Given the description of an element on the screen output the (x, y) to click on. 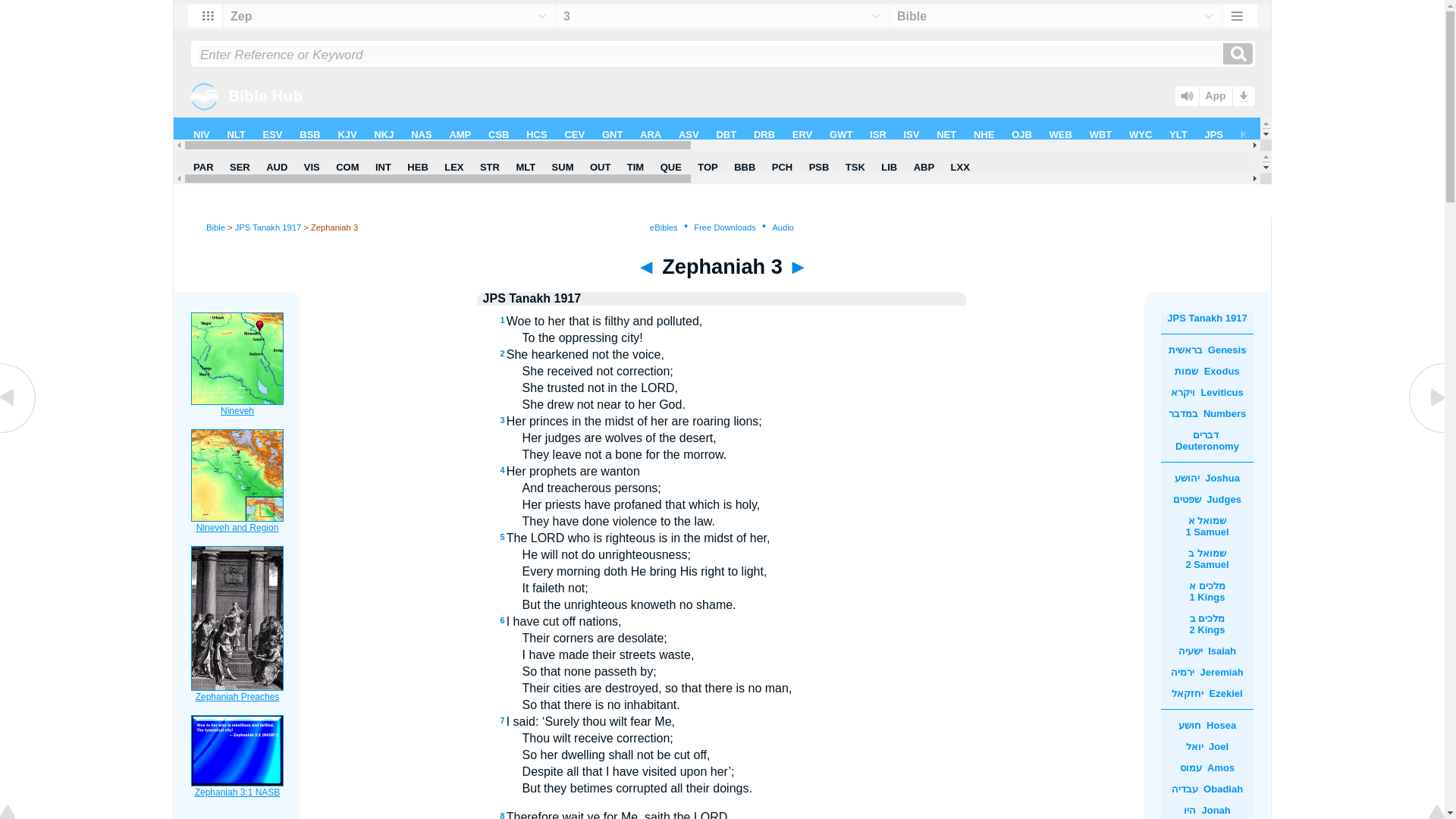
Top of Page (18, 813)
Bible (215, 226)
JPS Tanakh 1917 (267, 226)
Zephaniah 2 (18, 431)
